Given the description of an element on the screen output the (x, y) to click on. 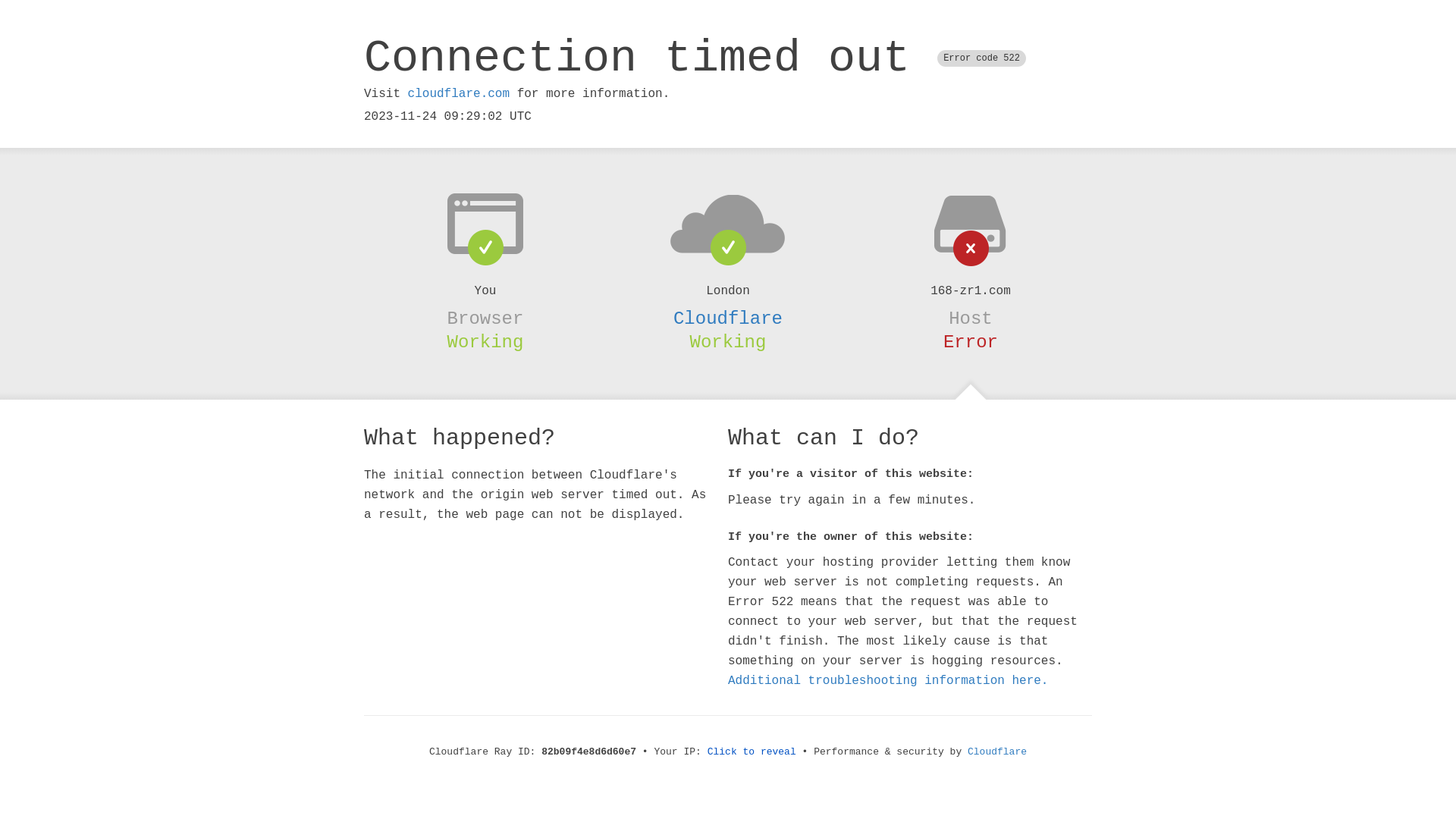
Click to reveal Element type: text (751, 751)
Cloudflare Element type: text (996, 751)
Additional troubleshooting information here. Element type: text (888, 680)
Cloudflare Element type: text (727, 318)
cloudflare.com Element type: text (458, 93)
